Given the description of an element on the screen output the (x, y) to click on. 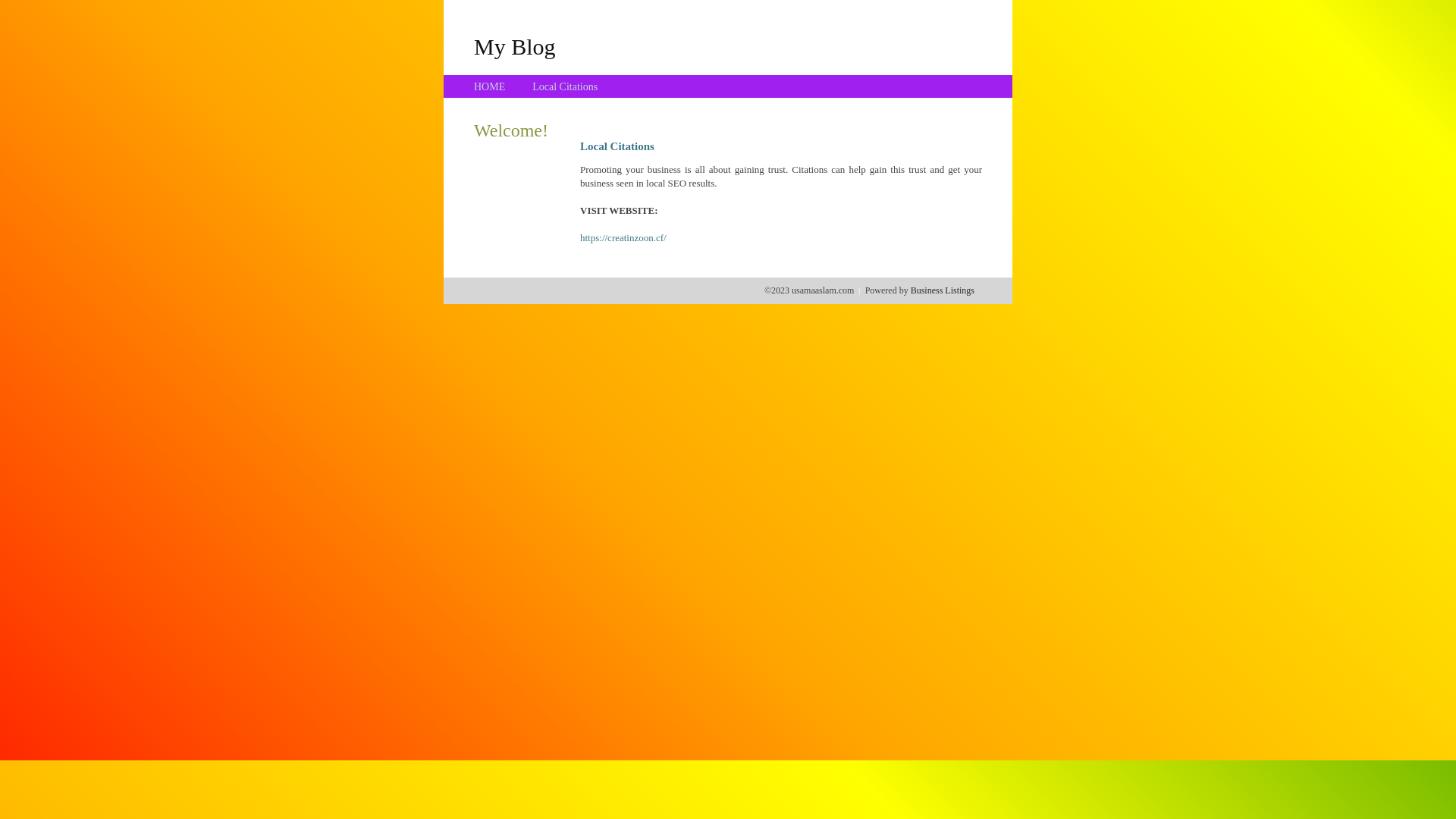
My Blog Element type: text (514, 46)
Business Listings Element type: text (942, 290)
HOME Element type: text (489, 86)
Local Citations Element type: text (564, 86)
https://creatinzoon.cf/ Element type: text (623, 237)
